Given the description of an element on the screen output the (x, y) to click on. 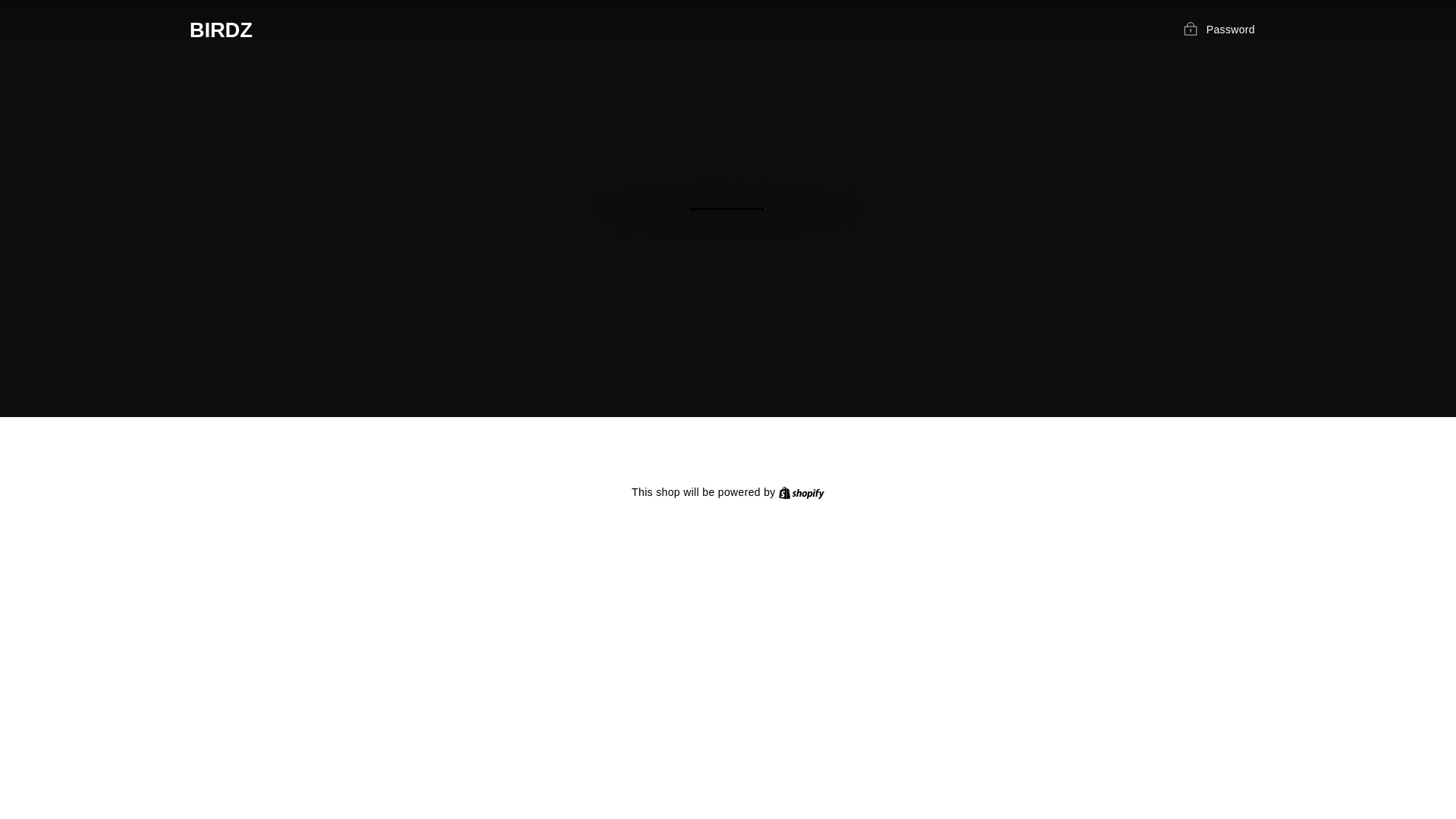
Create your own online store with Shopify (801, 491)
Shopify (801, 491)
